Given the description of an element on the screen output the (x, y) to click on. 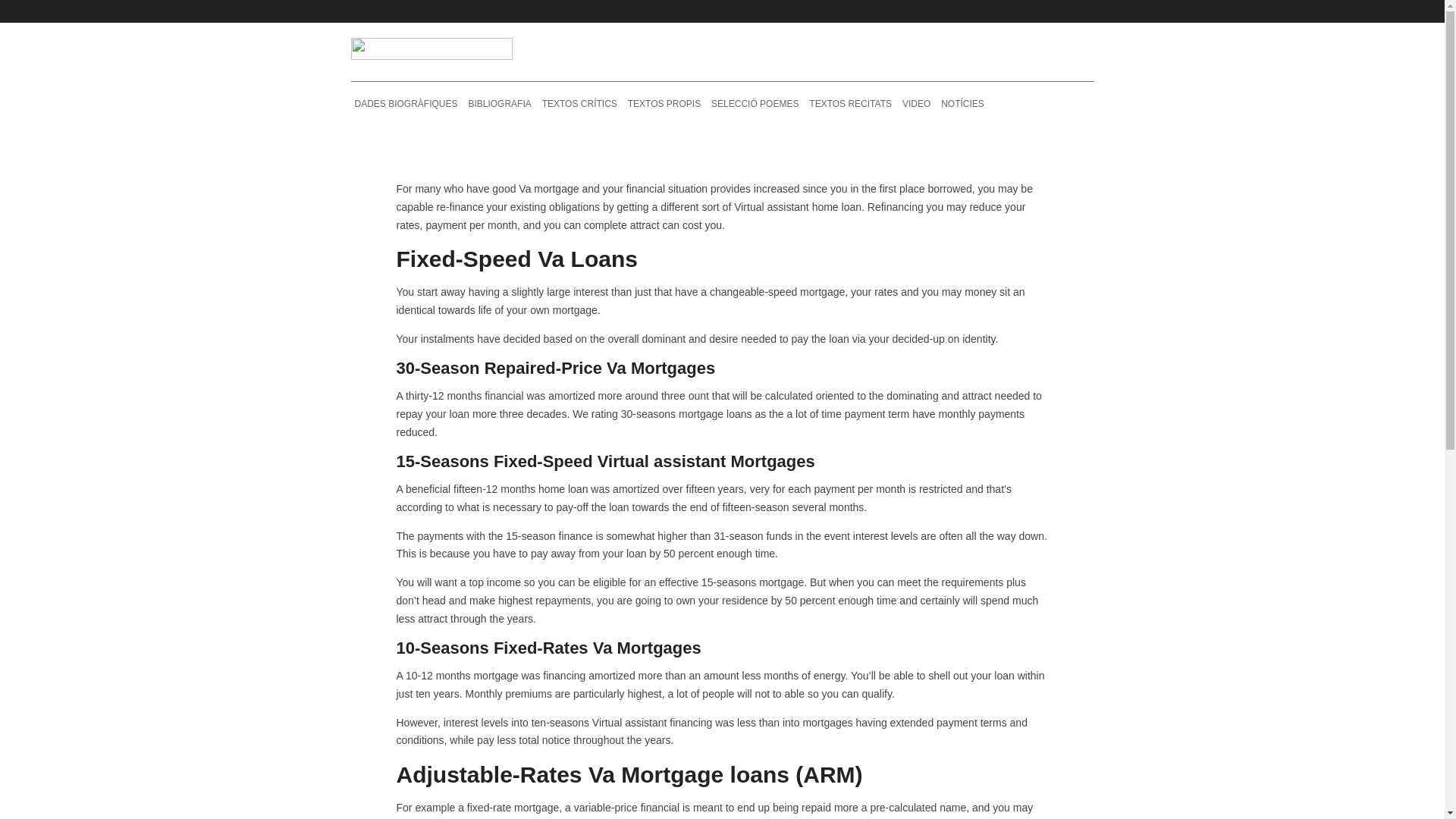
CONTACTE (852, 10)
DEUTSCH (787, 10)
VIDEO (916, 103)
RESUM CASTELLANO (579, 10)
TEXTOS PROPIS (664, 103)
CONVERSA AMB CARLES HAC MOR (432, 10)
TEXTOS RECITATS (850, 103)
BIBLIOGRAFIA (499, 103)
ENGLISH (728, 10)
